Given the description of an element on the screen output the (x, y) to click on. 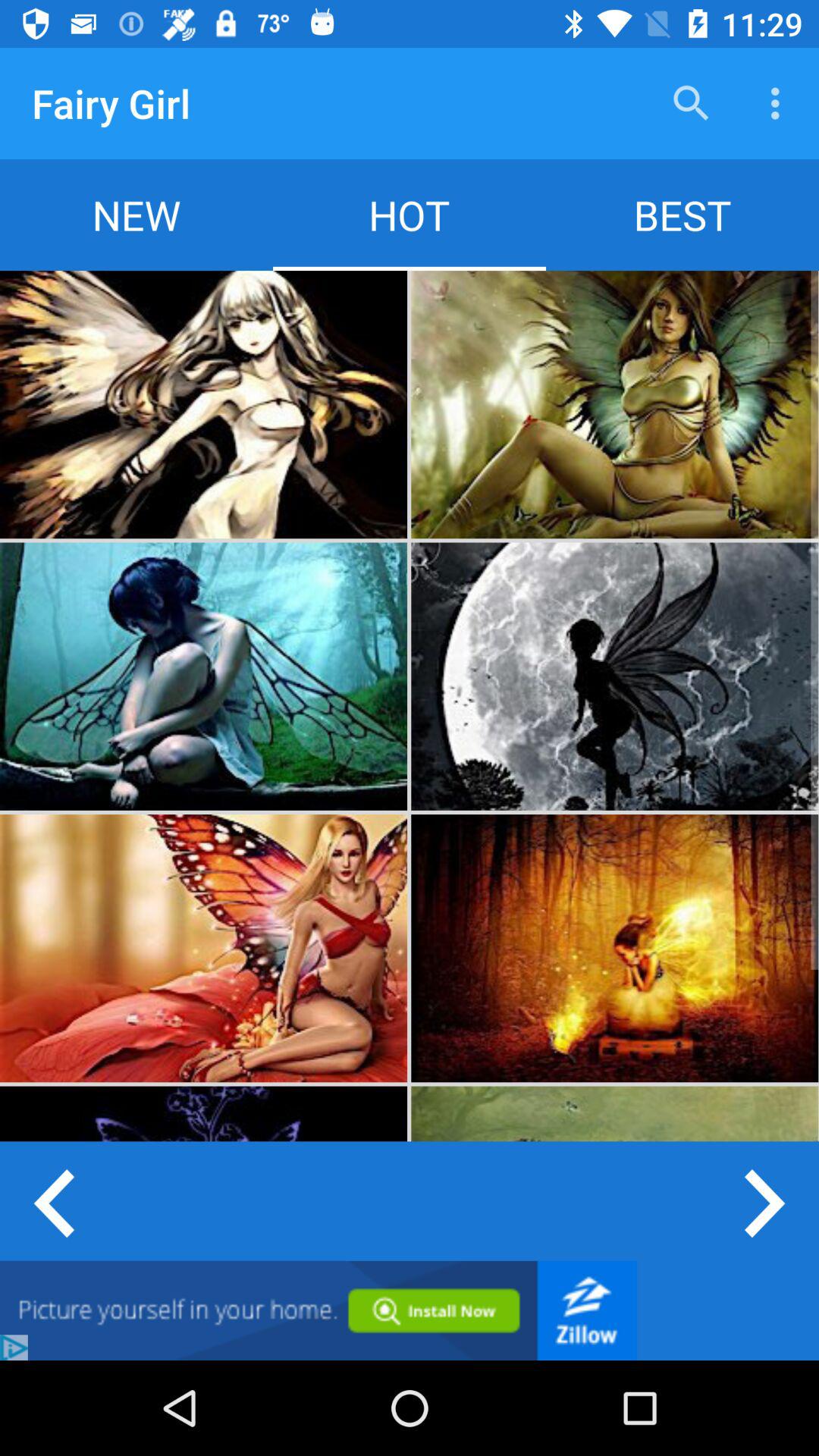
next (766, 1201)
